Given the description of an element on the screen output the (x, y) to click on. 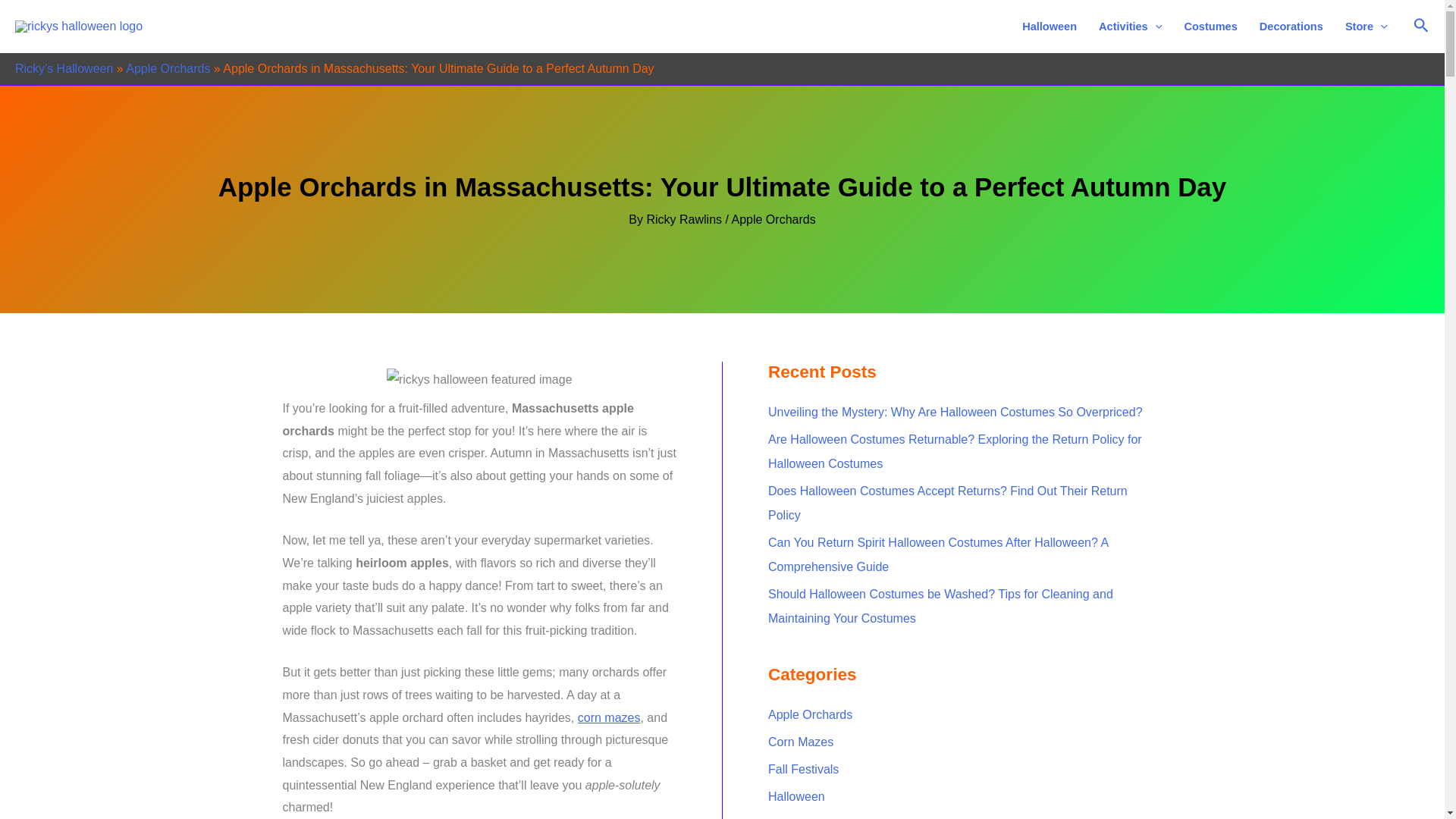
Halloween (1049, 26)
Decorations (1290, 26)
Apple Orchards (167, 68)
corn mazes (609, 717)
View all posts by Ricky Rawlins (685, 219)
Store (1365, 26)
Activities (1130, 26)
Ricky's Halloween (63, 68)
Costumes (1210, 26)
